Given the description of an element on the screen output the (x, y) to click on. 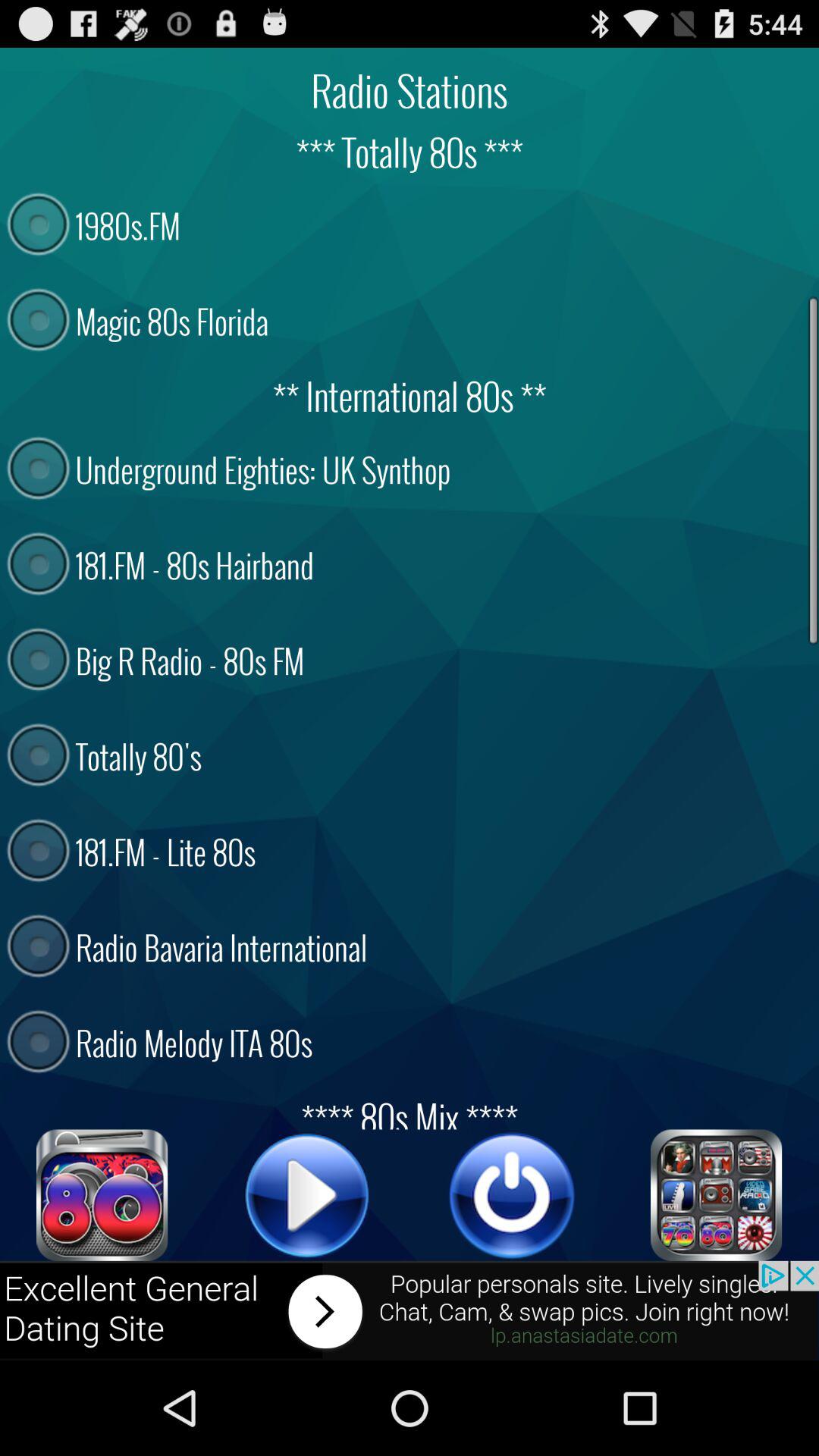
power off button (511, 1194)
